Given the description of an element on the screen output the (x, y) to click on. 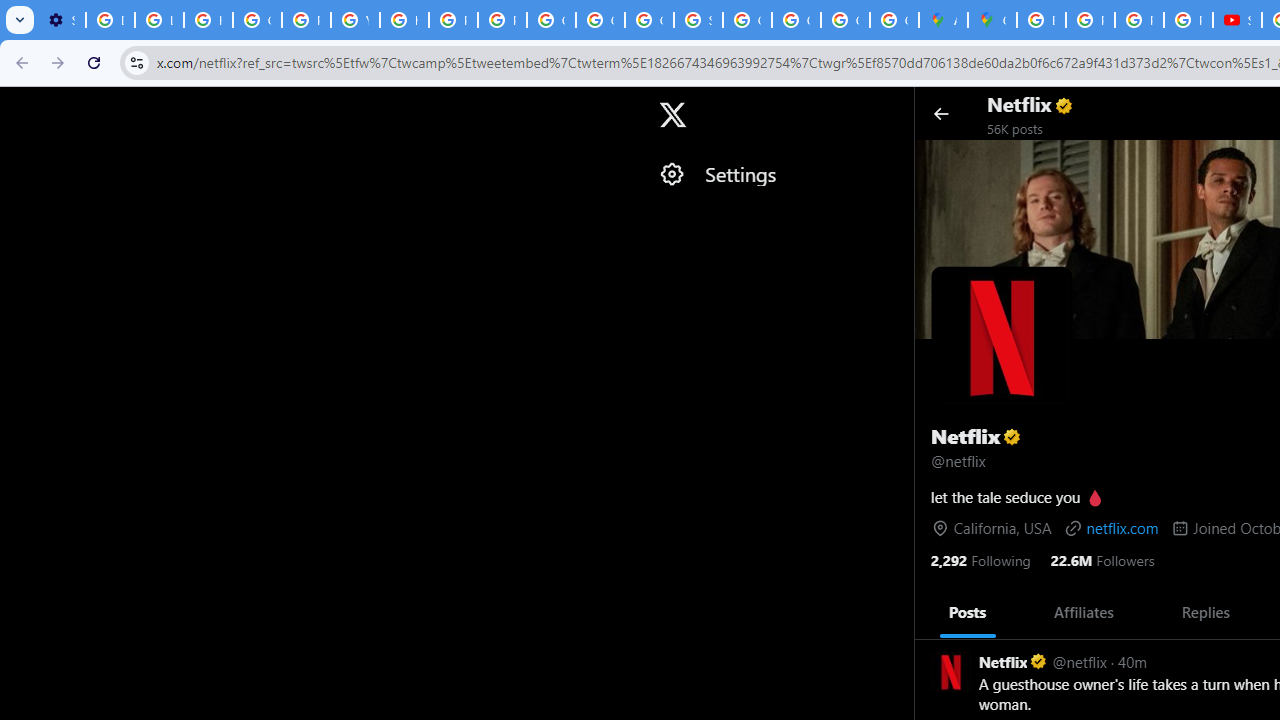
Google Account Help (257, 20)
Provides details about verified accounts. (1012, 436)
40 minutes ago (1132, 660)
Privacy Help Center - Policies Help (306, 20)
Settings - Customize profile (61, 20)
Replies (1205, 611)
